Given the description of an element on the screen output the (x, y) to click on. 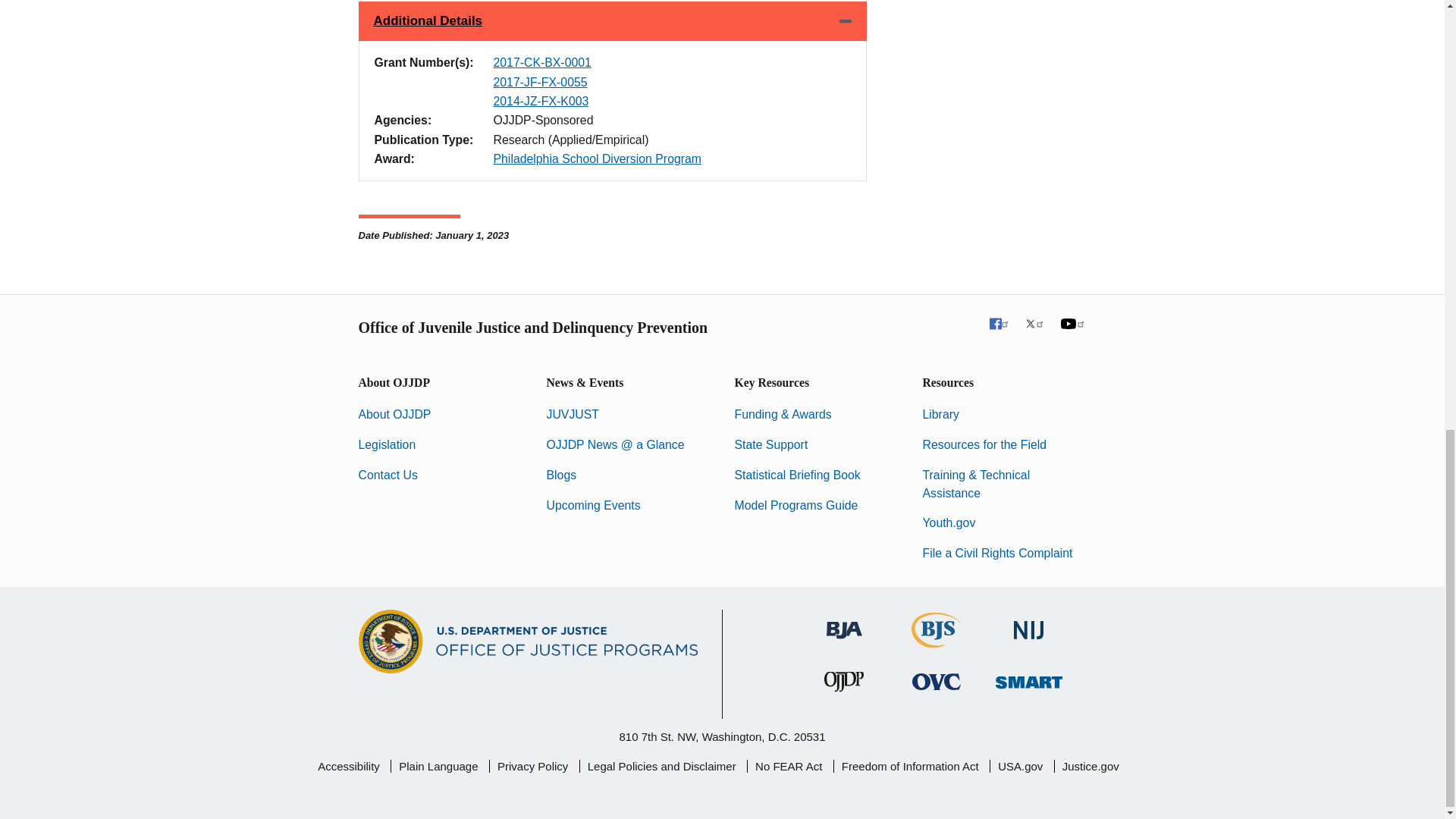
Additional Details (612, 20)
2017-JF-FX-0055 (539, 82)
Philadelphia School Diversion Program (597, 158)
2014-JZ-FX-K003 (540, 101)
2017-CK-BX-0001 (542, 62)
